Given the description of an element on the screen output the (x, y) to click on. 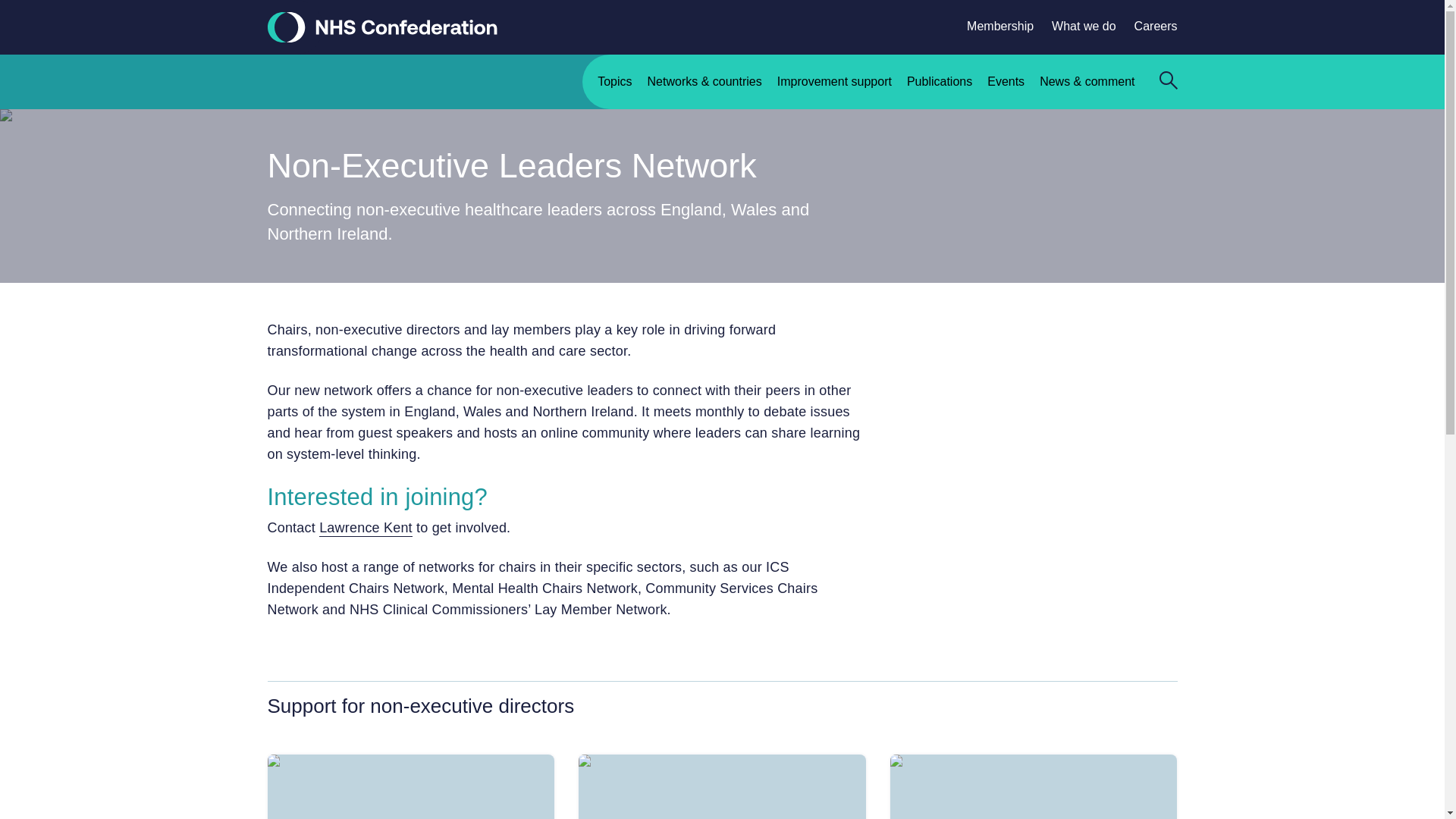
Twitter logo (1089, 785)
Careers (1146, 26)
Membership (991, 26)
Youtube icon (1142, 784)
Non-executive newsletter (722, 786)
Events (998, 90)
Search icon (1168, 81)
Search icon (1167, 80)
Lawrence Kent (365, 528)
Publications (931, 90)
Contact us (295, 749)
Member forums (410, 786)
Improvement support (826, 90)
